Given the description of an element on the screen output the (x, y) to click on. 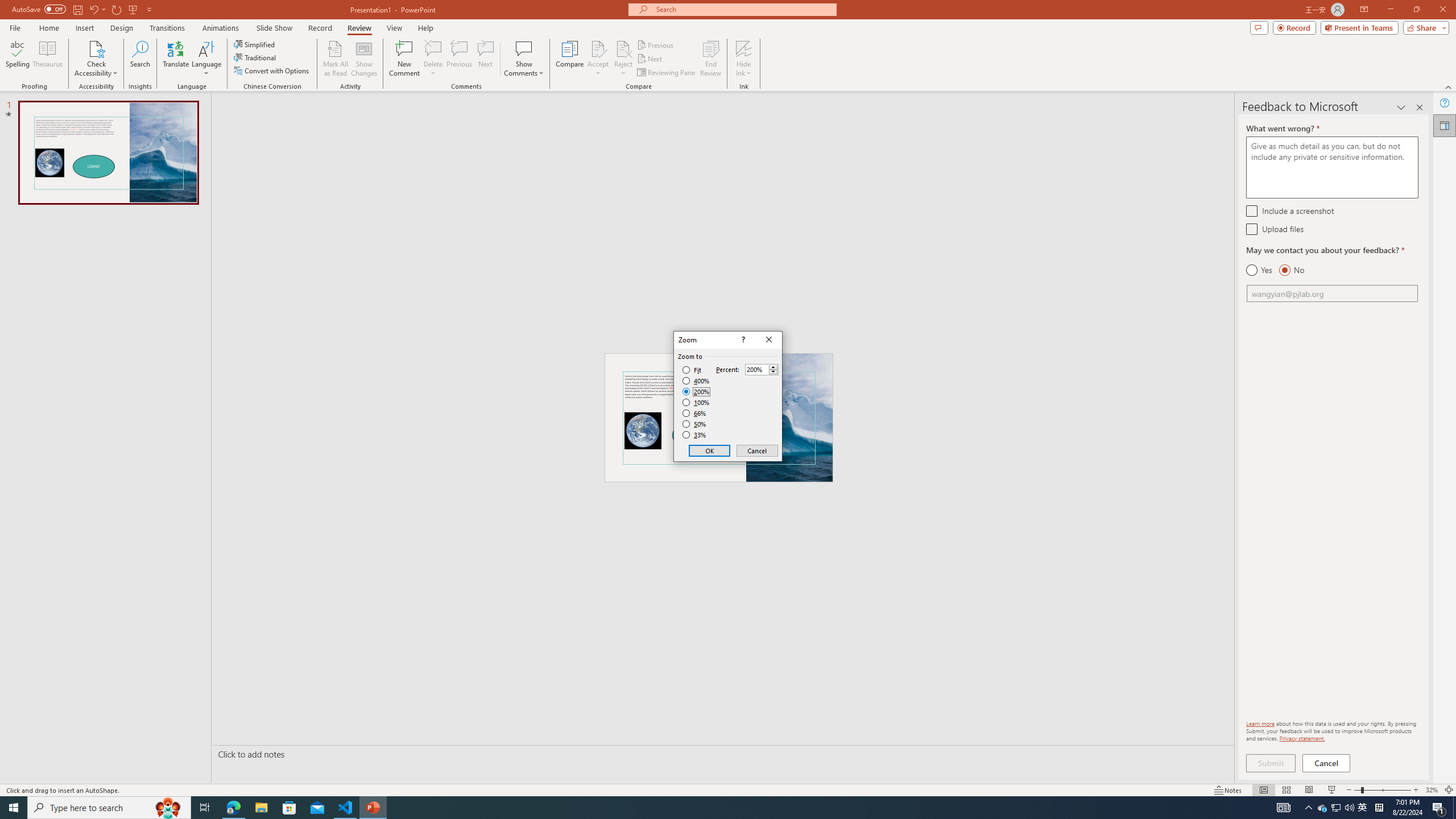
Yes (1259, 269)
66% (694, 412)
Submit (1270, 763)
